Given the description of an element on the screen output the (x, y) to click on. 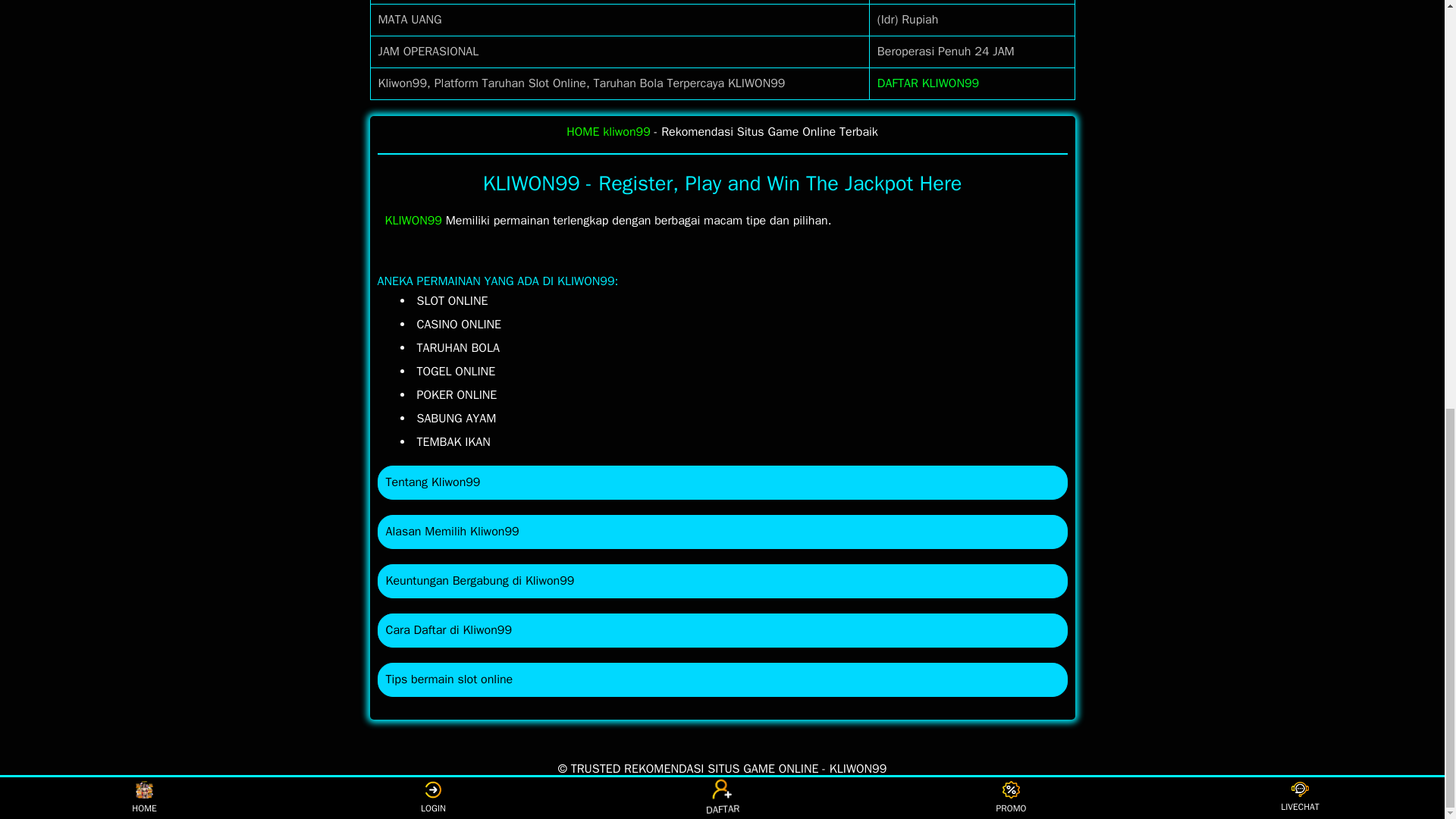
HOME (582, 131)
kliwon99 (626, 131)
DAFTAR KLIWON99 (927, 83)
KLIWON99 (413, 220)
DAFTAR KLIWON99 (927, 83)
